Given the description of an element on the screen output the (x, y) to click on. 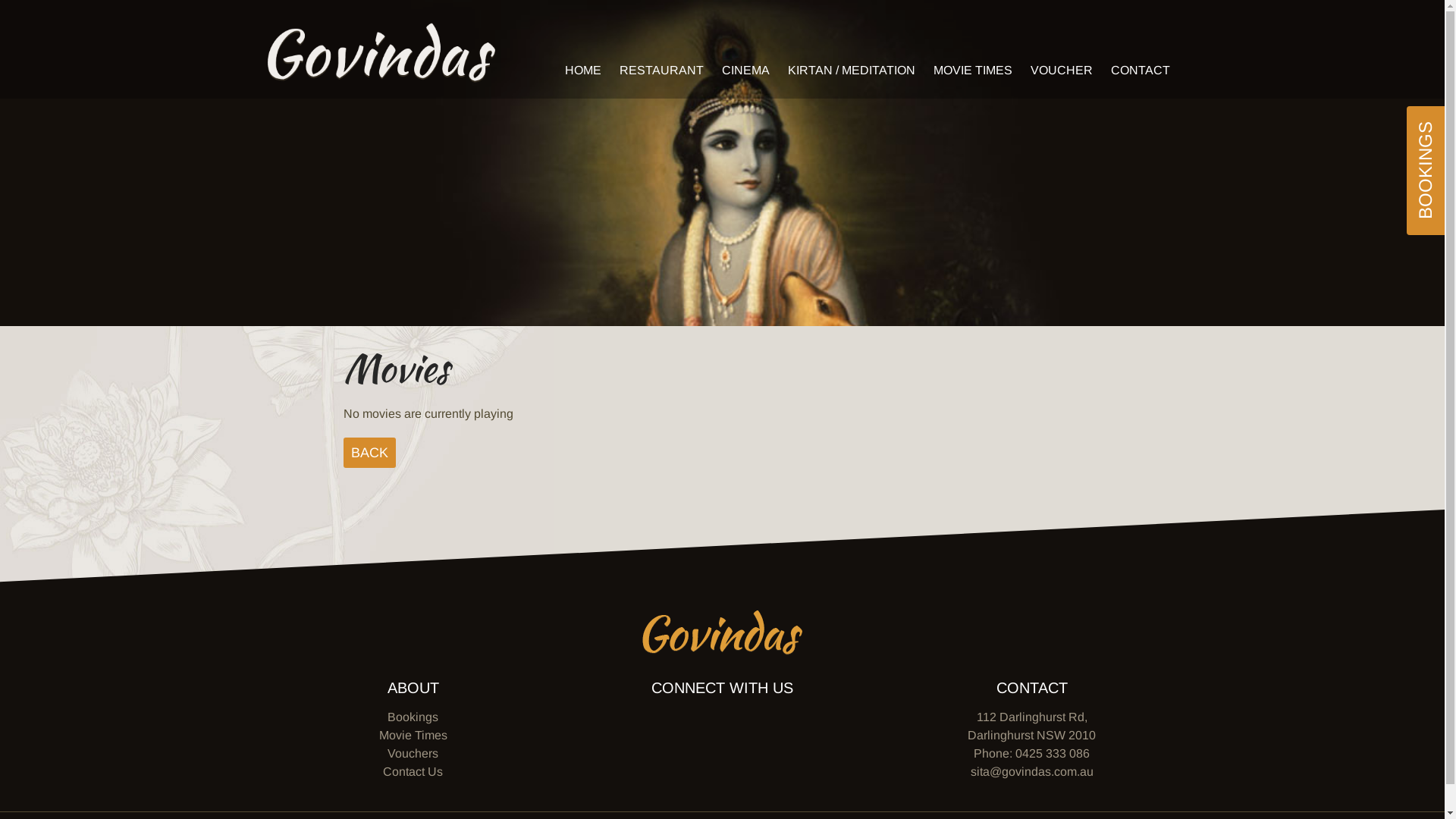
Vouchers Element type: text (412, 752)
CONTACT Element type: text (1139, 69)
MOVIE TIMES Element type: text (972, 69)
0425 333 086 Element type: text (1052, 752)
VOUCHER Element type: text (1060, 69)
HOME Element type: text (582, 69)
Govinda's Element type: hover (380, 52)
Back Element type: text (368, 452)
sita@govindas.com.au Element type: text (1031, 771)
KIRTAN / MEDITATION Element type: text (850, 69)
Bookings Element type: text (412, 716)
Govinda's Element type: hover (722, 632)
RESTAURANT Element type: text (660, 69)
CINEMA Element type: text (745, 69)
Movie Times Element type: text (413, 734)
Contact Us Element type: text (412, 771)
